Given the description of an element on the screen output the (x, y) to click on. 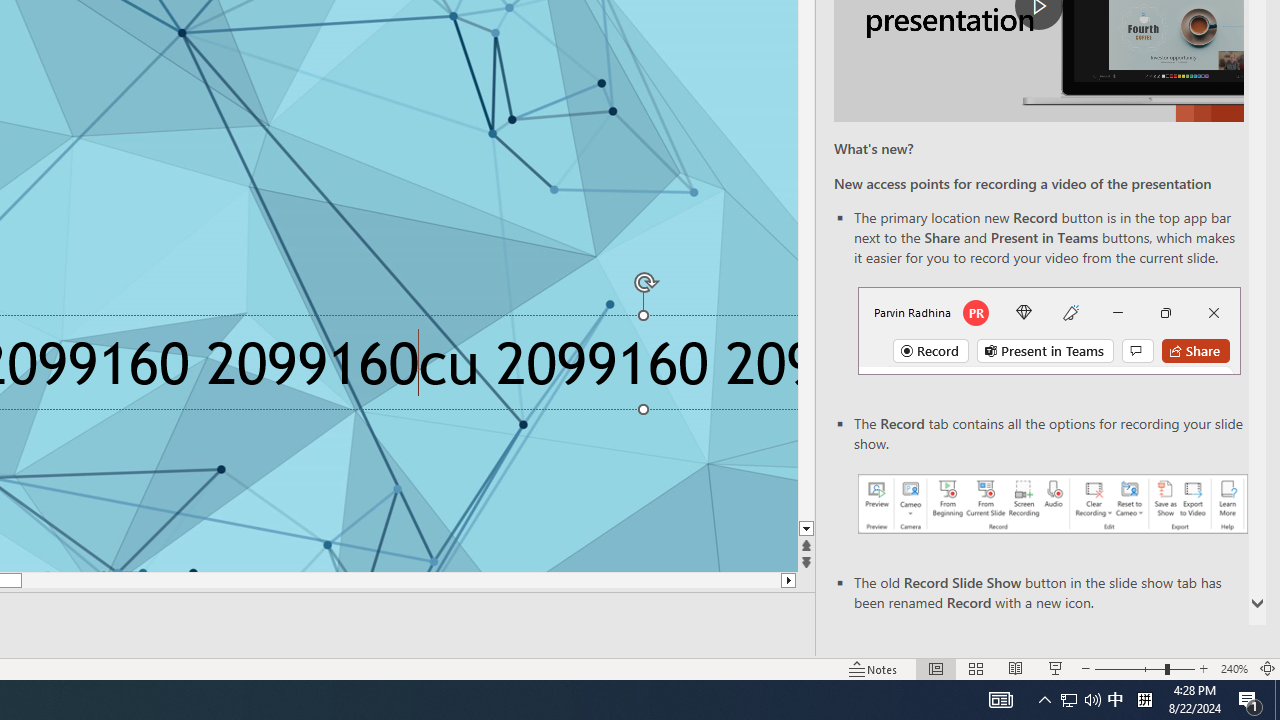
Record your presentations screenshot one (1052, 503)
Record button in top bar (1049, 331)
Zoom 240% (1234, 668)
